Given the description of an element on the screen output the (x, y) to click on. 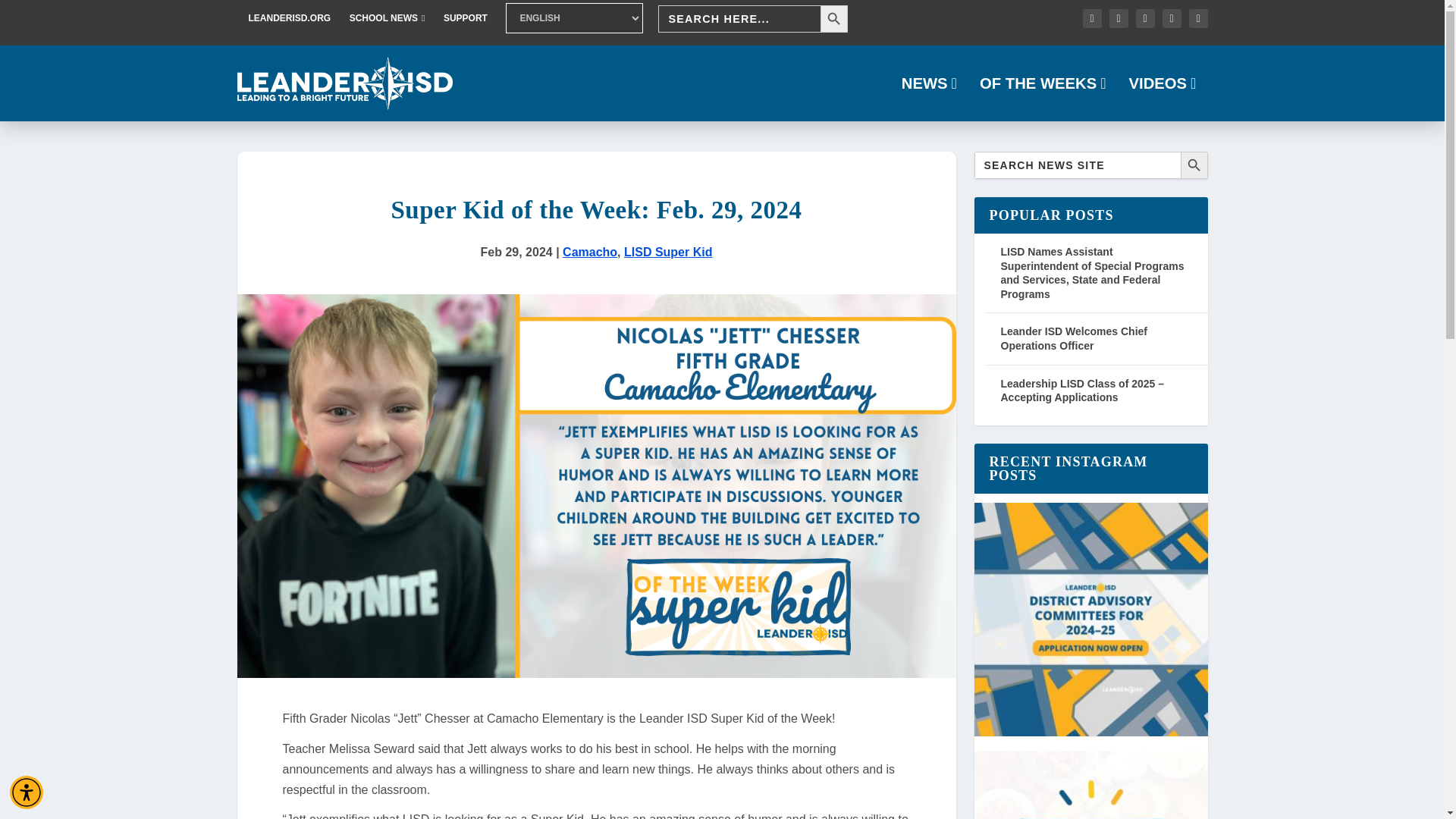
SCHOOL NEWS (387, 18)
LEANDERISD.ORG (289, 18)
Accessibility Menu (26, 792)
